Given the description of an element on the screen output the (x, y) to click on. 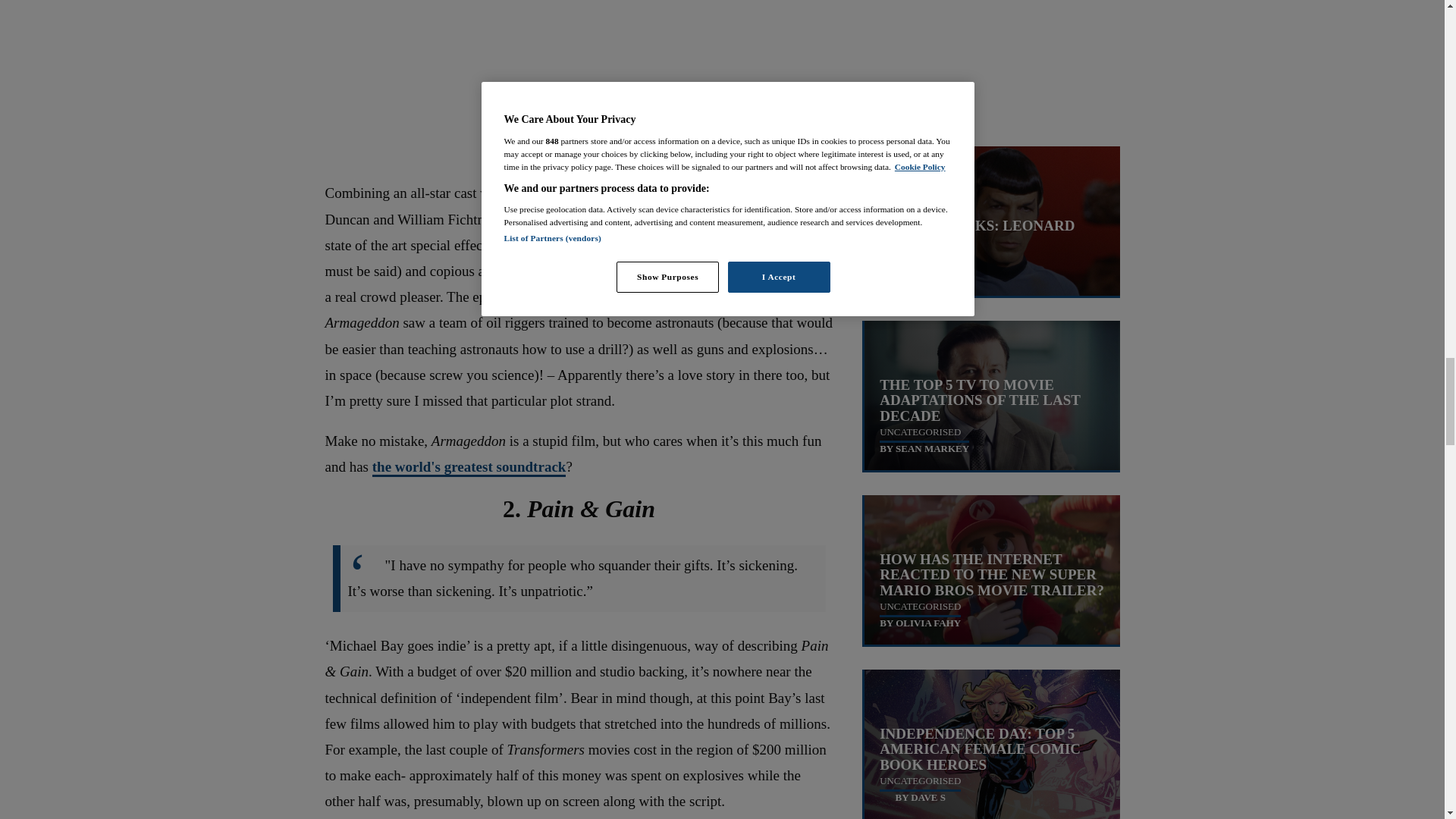
the guy from that other thing (614, 220)
the world's greatest soundtrack (469, 467)
